Given the description of an element on the screen output the (x, y) to click on. 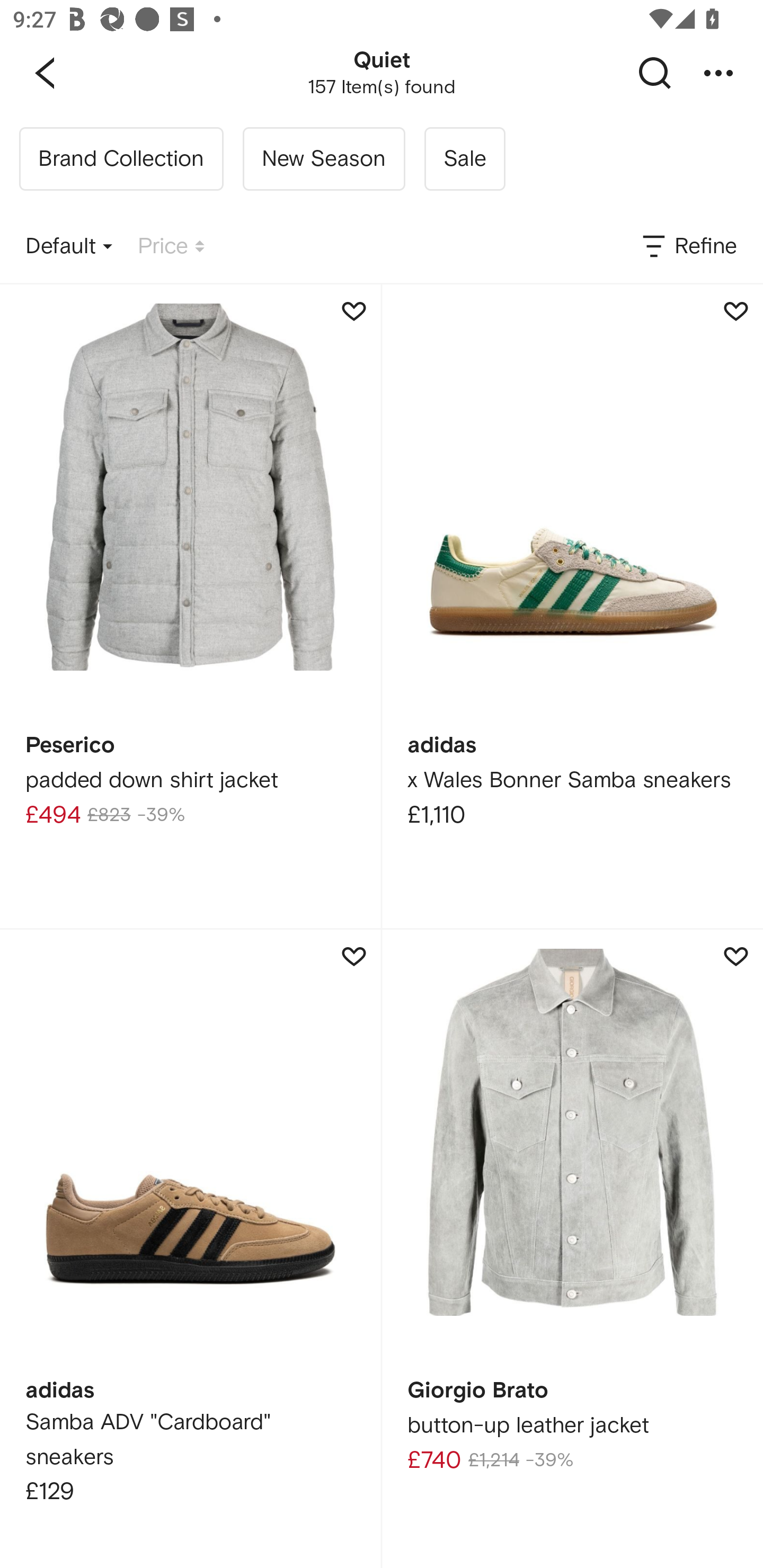
Brand Collection (121, 158)
New Season (323, 158)
Sale (464, 158)
Default (68, 246)
Price (171, 246)
Refine (688, 246)
Peserico padded down shirt jacket £494 £823 -39% (190, 605)
adidas x Wales Bonner Samba sneakers £1,110 (572, 605)
adidas Samba ADV "Cardboard" sneakers £129 (190, 1248)
